Given the description of an element on the screen output the (x, y) to click on. 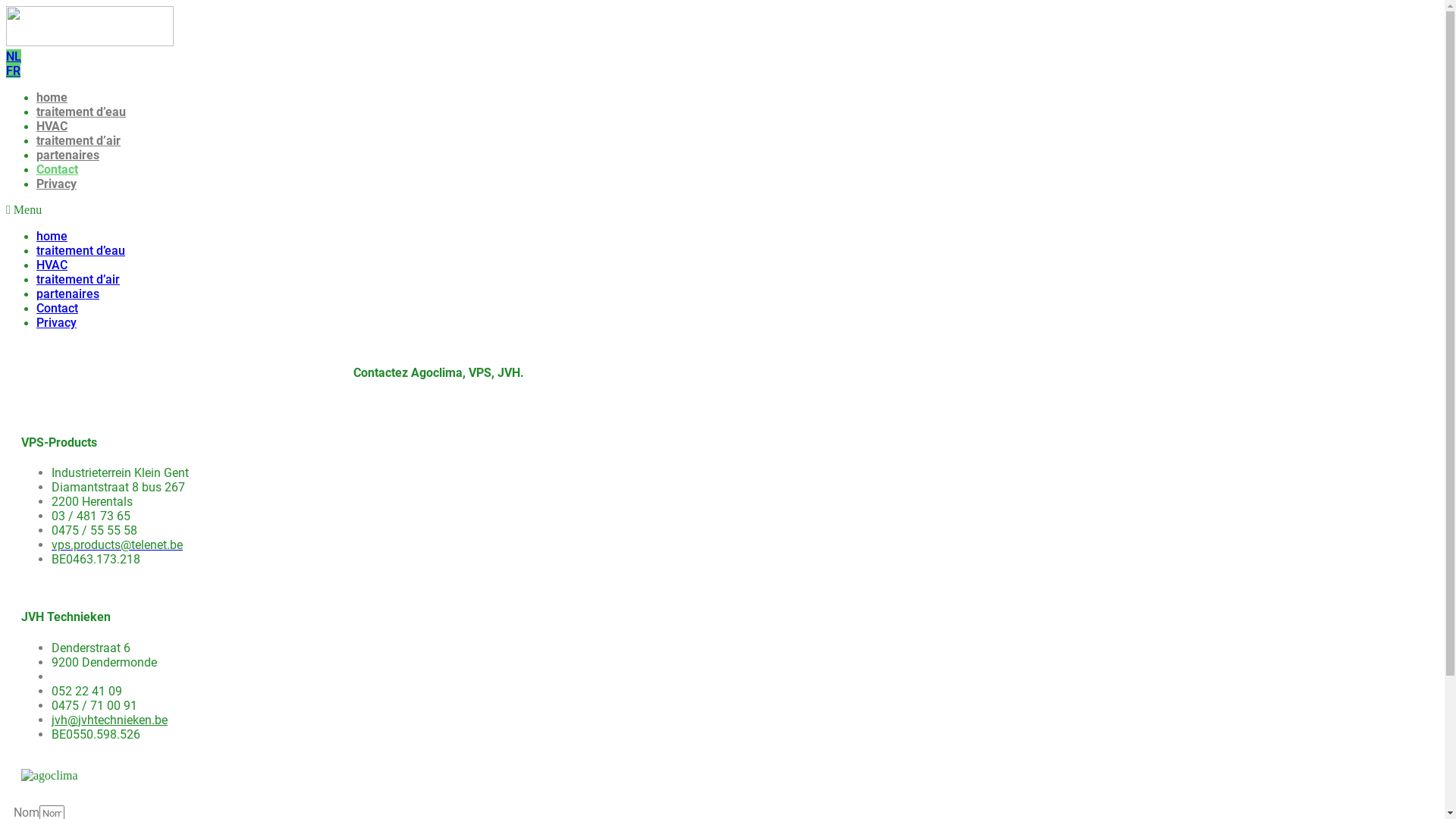
vps.products@telenet.be Element type: text (116, 544)
FR Element type: text (13, 70)
home Element type: text (51, 97)
home Element type: text (51, 236)
Privacy Element type: text (56, 322)
HVAC Element type: text (51, 126)
Contact Element type: text (57, 169)
Privacy Element type: text (56, 183)
partenaires Element type: text (67, 154)
NL Element type: text (13, 56)
partenaires Element type: text (67, 293)
HVAC Element type: text (51, 264)
jvh@jvhtechnieken.be Element type: text (109, 719)
Contact Element type: text (57, 308)
